Given the description of an element on the screen output the (x, y) to click on. 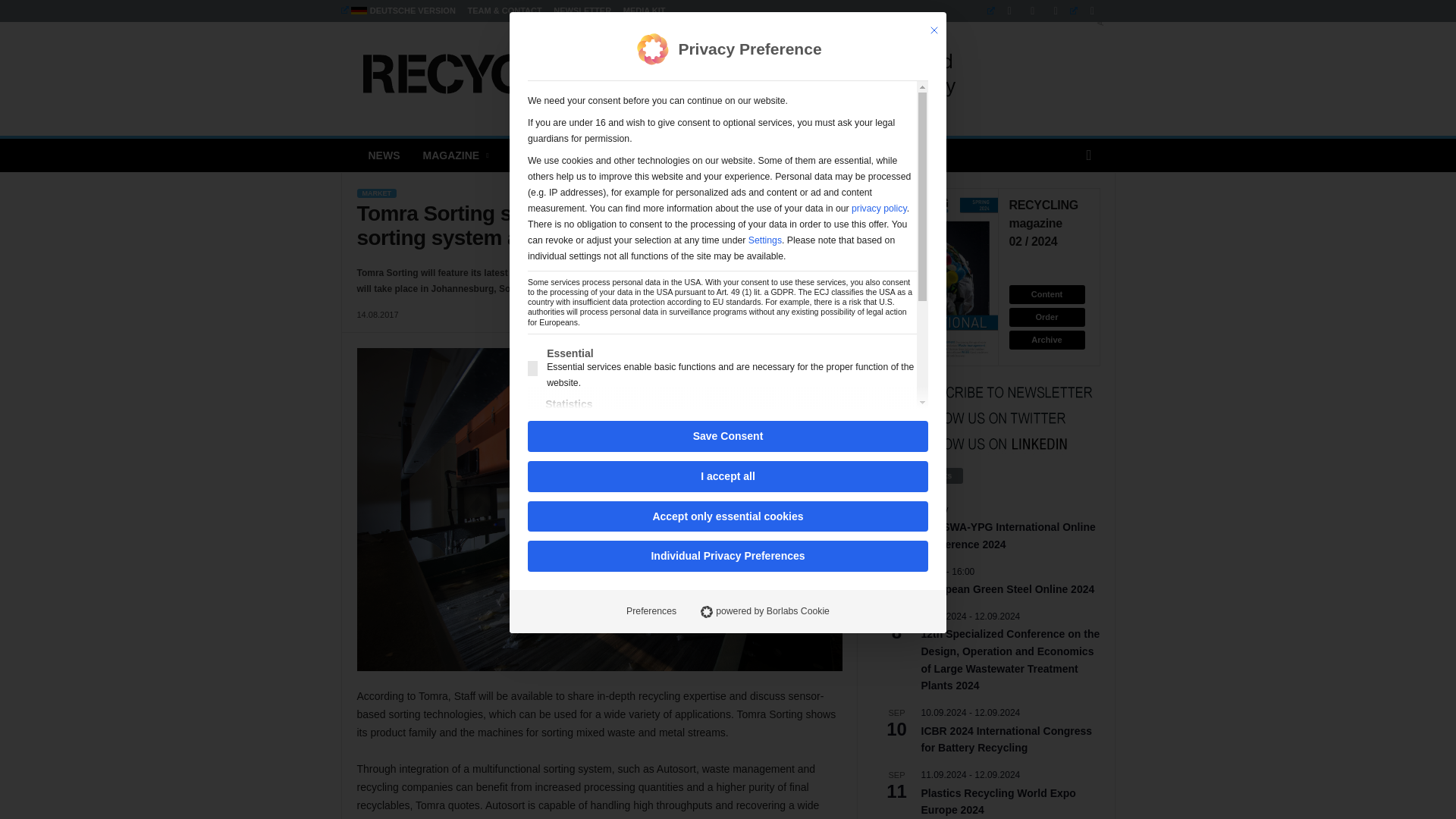
DEUTSCHE VERSION (397, 10)
MEDIA KIT (644, 10)
NEWSLETTER (582, 10)
Twitter (1086, 11)
Linkedin (1003, 11)
